Given the description of an element on the screen output the (x, y) to click on. 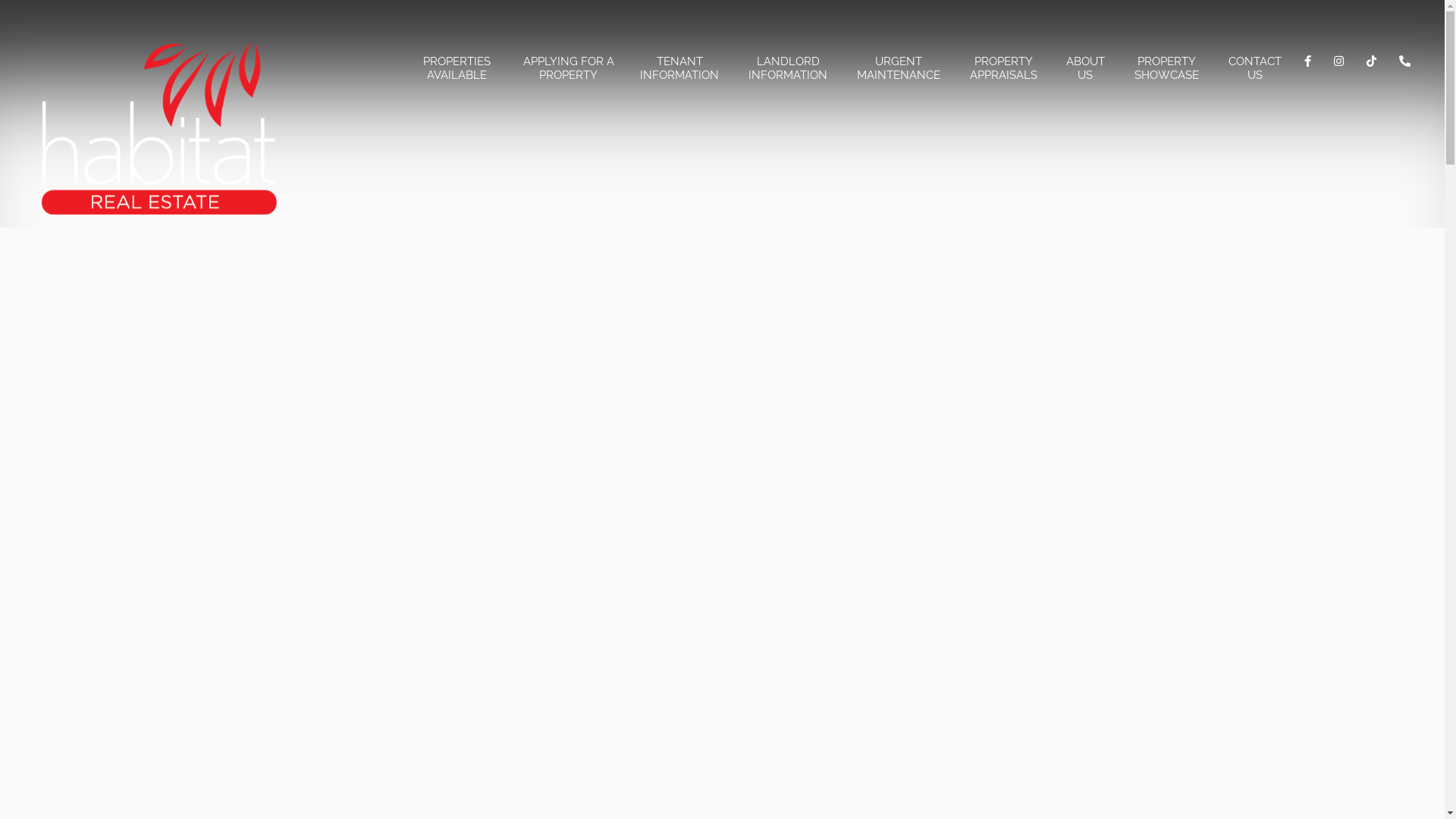
PROPERTIES AVAILABLE Element type: text (456, 67)
URGENT MAINTENANCE Element type: text (898, 67)
TENANT INFORMATION Element type: text (679, 67)
APPLYING FOR A PROPERTY Element type: text (568, 67)
PROPERTY APPRAISALS Element type: text (1002, 67)
LANDLORD INFORMATION Element type: text (788, 67)
Log In Element type: text (721, 248)
ABOUT US Element type: text (1085, 67)
CONTACT US Element type: text (1254, 67)
PROPERTY SHOWCASE Element type: text (1166, 67)
